Given the description of an element on the screen output the (x, y) to click on. 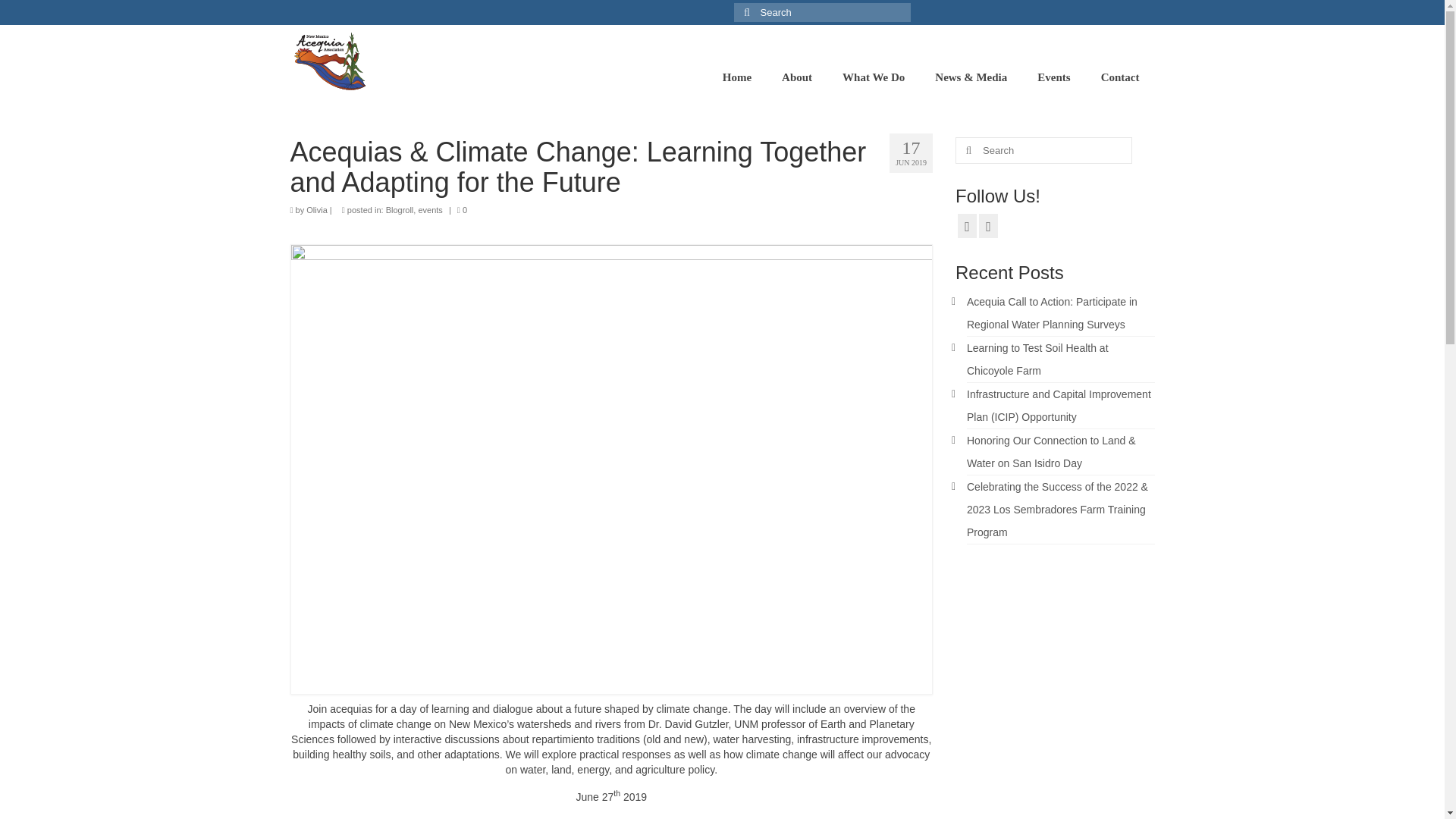
Events (1053, 77)
Home (737, 77)
About (797, 77)
What We Do (873, 77)
Contact (1120, 77)
